Given the description of an element on the screen output the (x, y) to click on. 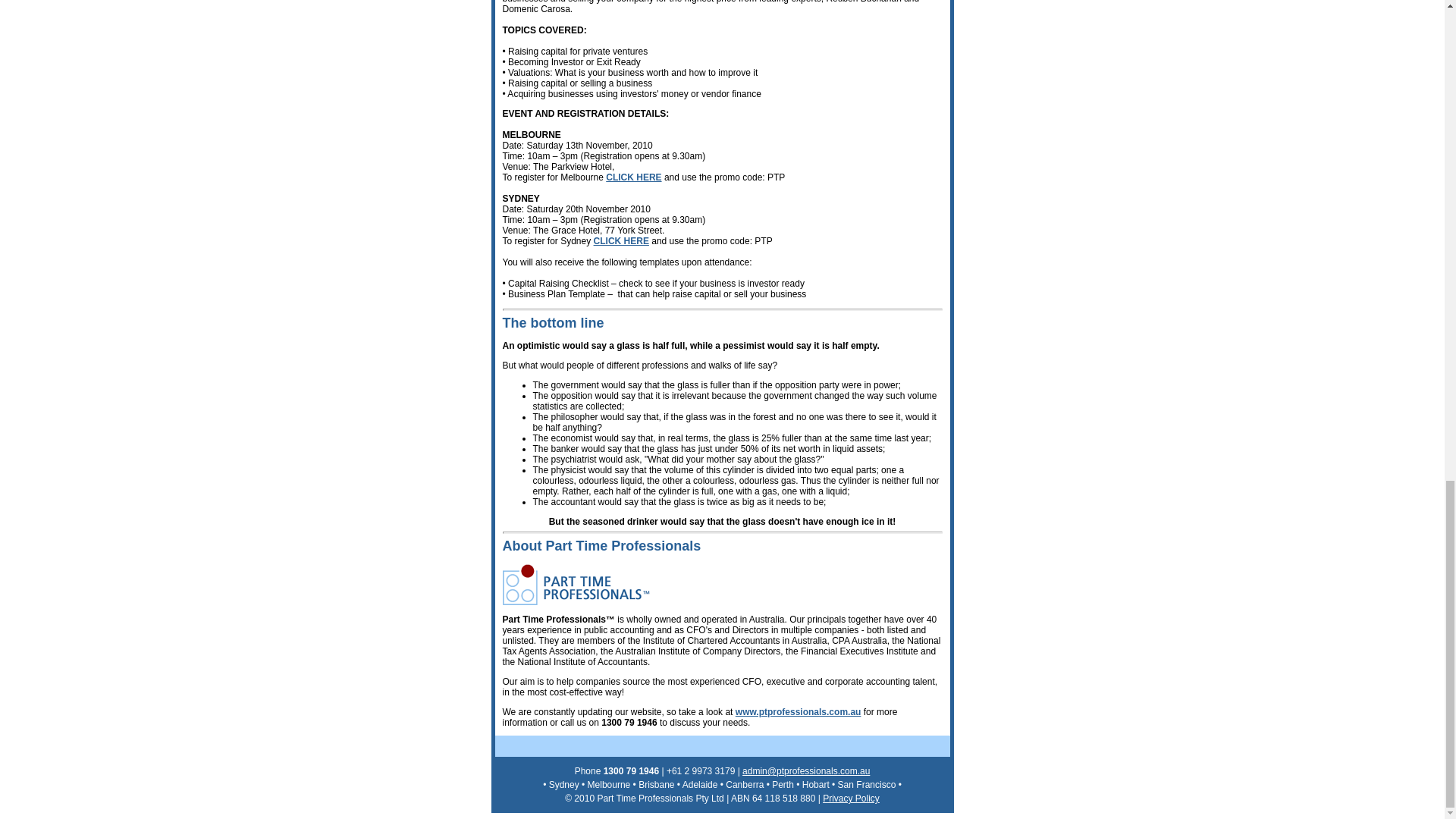
Privacy Policy (850, 798)
CLICK HERE (621, 240)
CLICK HERE (633, 176)
www.ptprofessionals.com.au (798, 711)
